Given the description of an element on the screen output the (x, y) to click on. 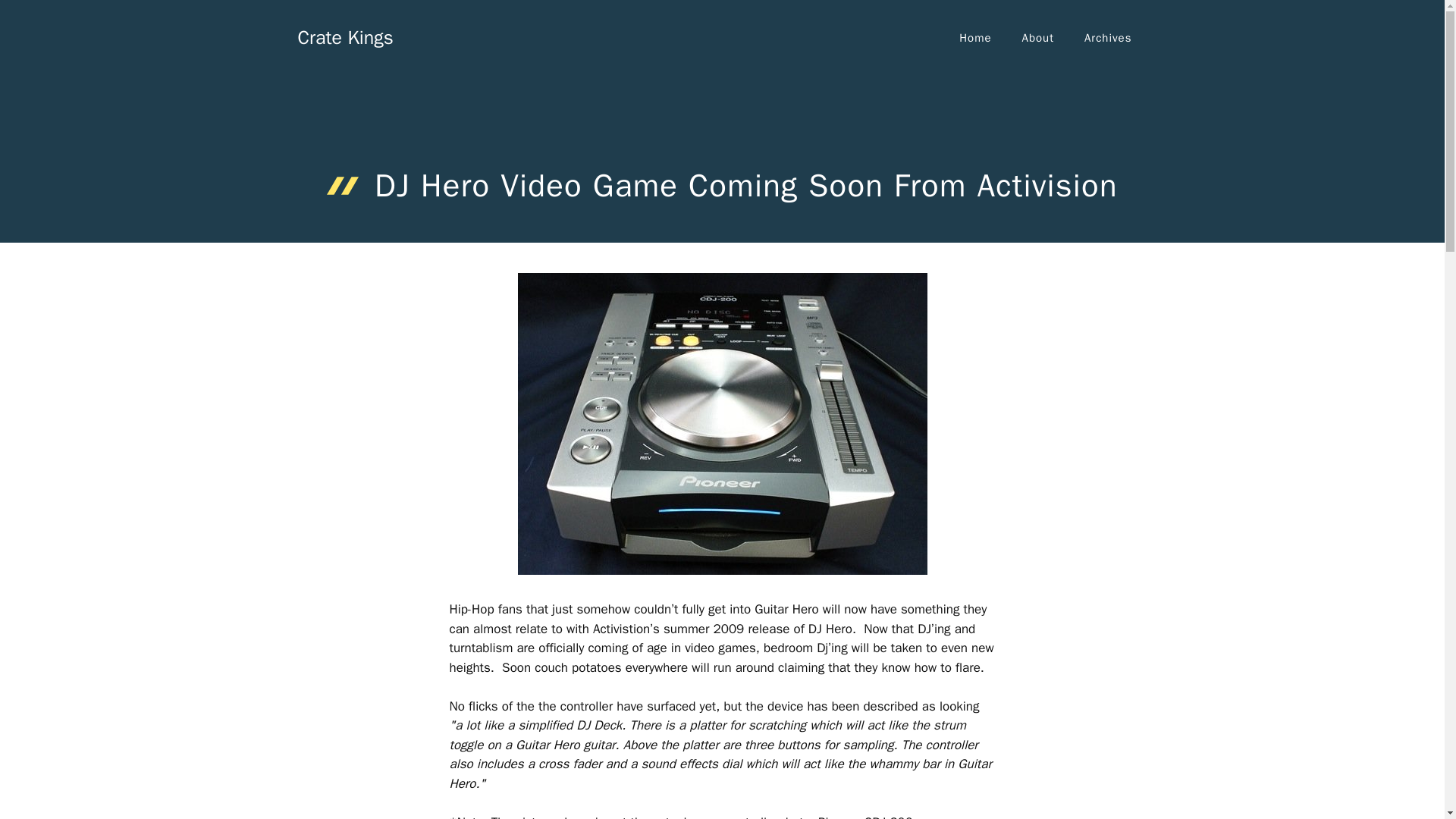
Home (974, 37)
About (1037, 37)
Crate Kings (345, 37)
Archives (1107, 37)
